Given the description of an element on the screen output the (x, y) to click on. 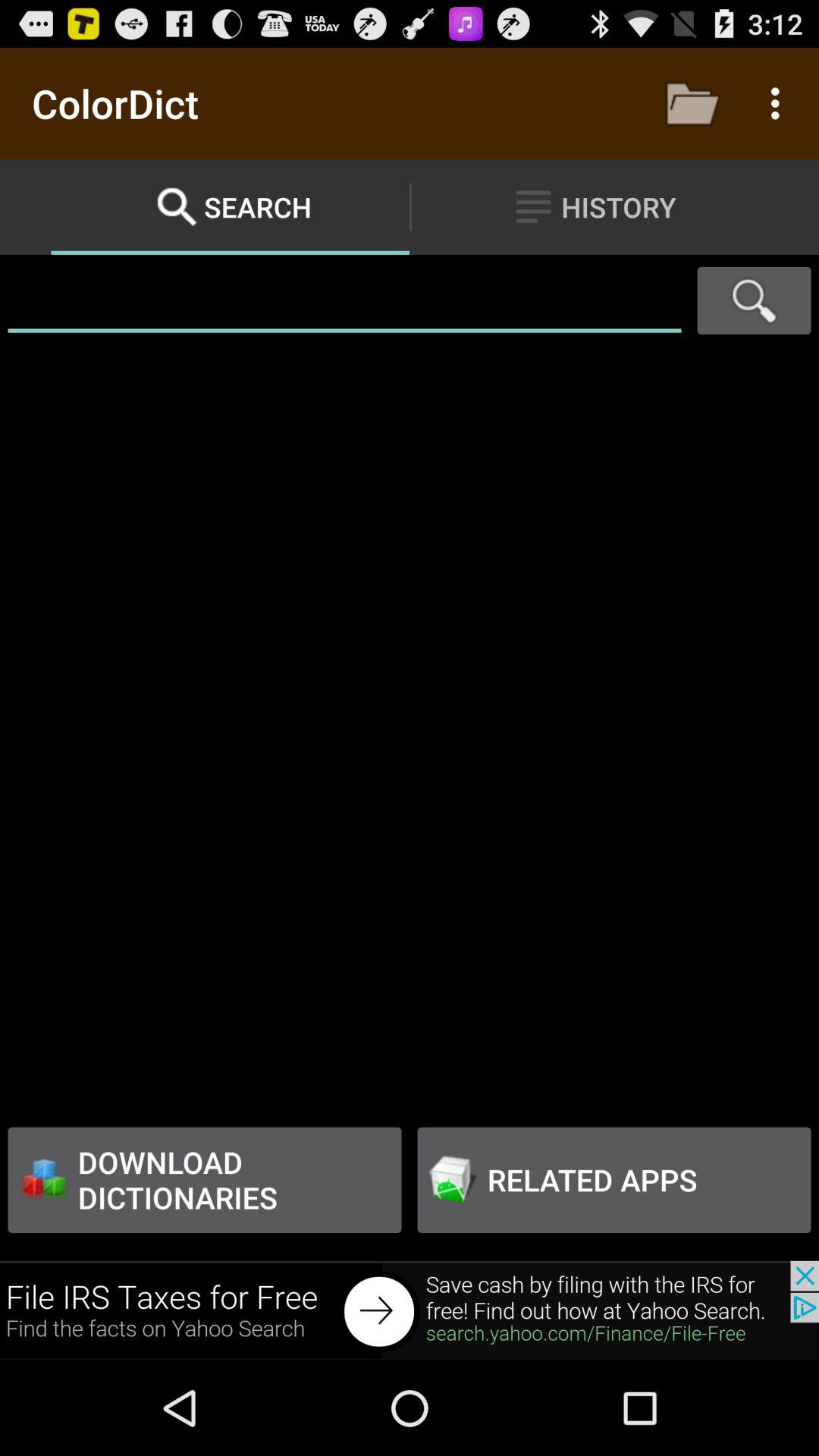
searching the file (344, 300)
